Given the description of an element on the screen output the (x, y) to click on. 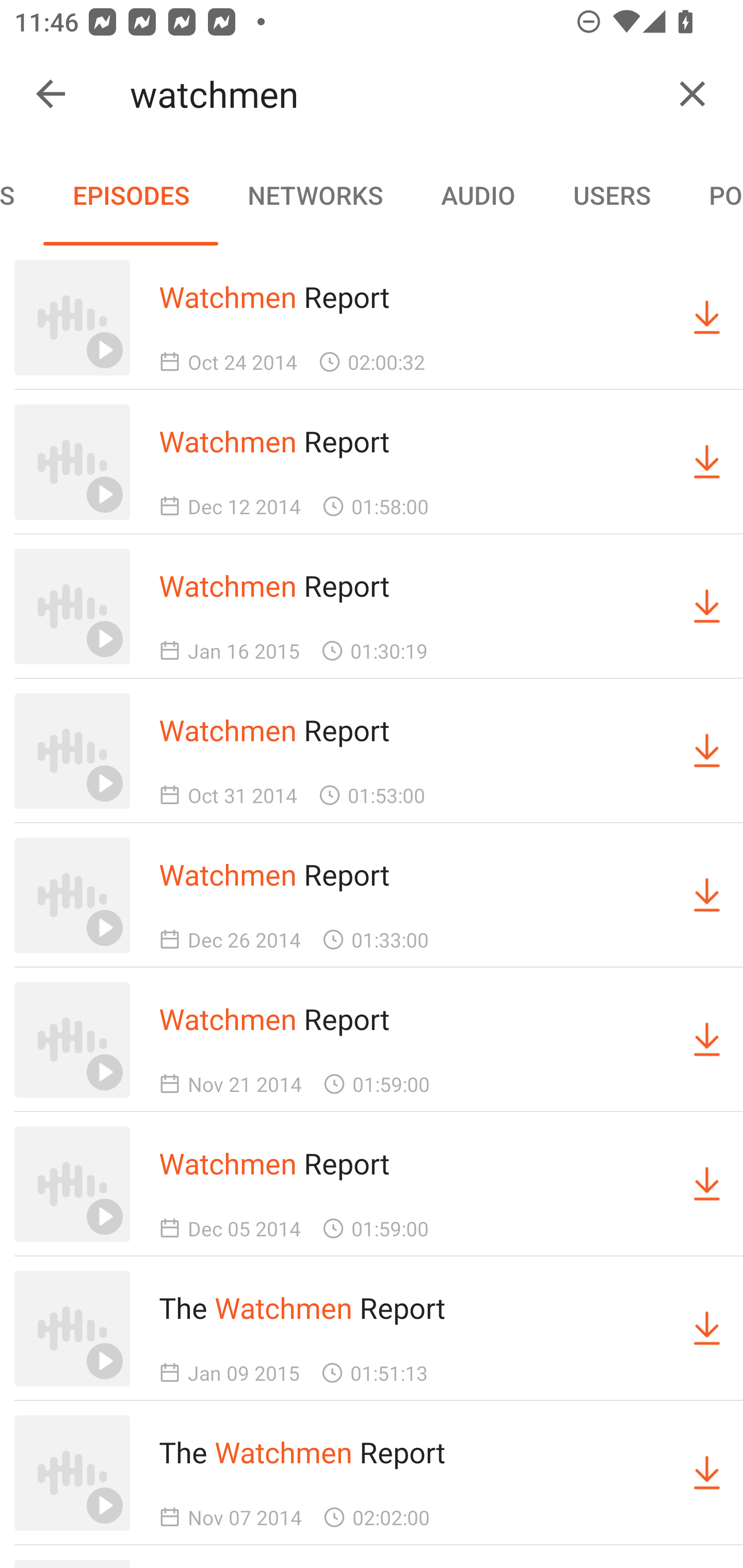
Collapse (50, 93)
Clear query (692, 93)
watchmen (393, 94)
EPISODES (130, 195)
NETWORKS (314, 195)
AUDIO (477, 195)
USERS (611, 195)
Download (706, 317)
Download (706, 462)
Download (706, 606)
Download (706, 751)
Download (706, 895)
Download (706, 1039)
Download (706, 1183)
Download (706, 1328)
Download (706, 1472)
